Given the description of an element on the screen output the (x, y) to click on. 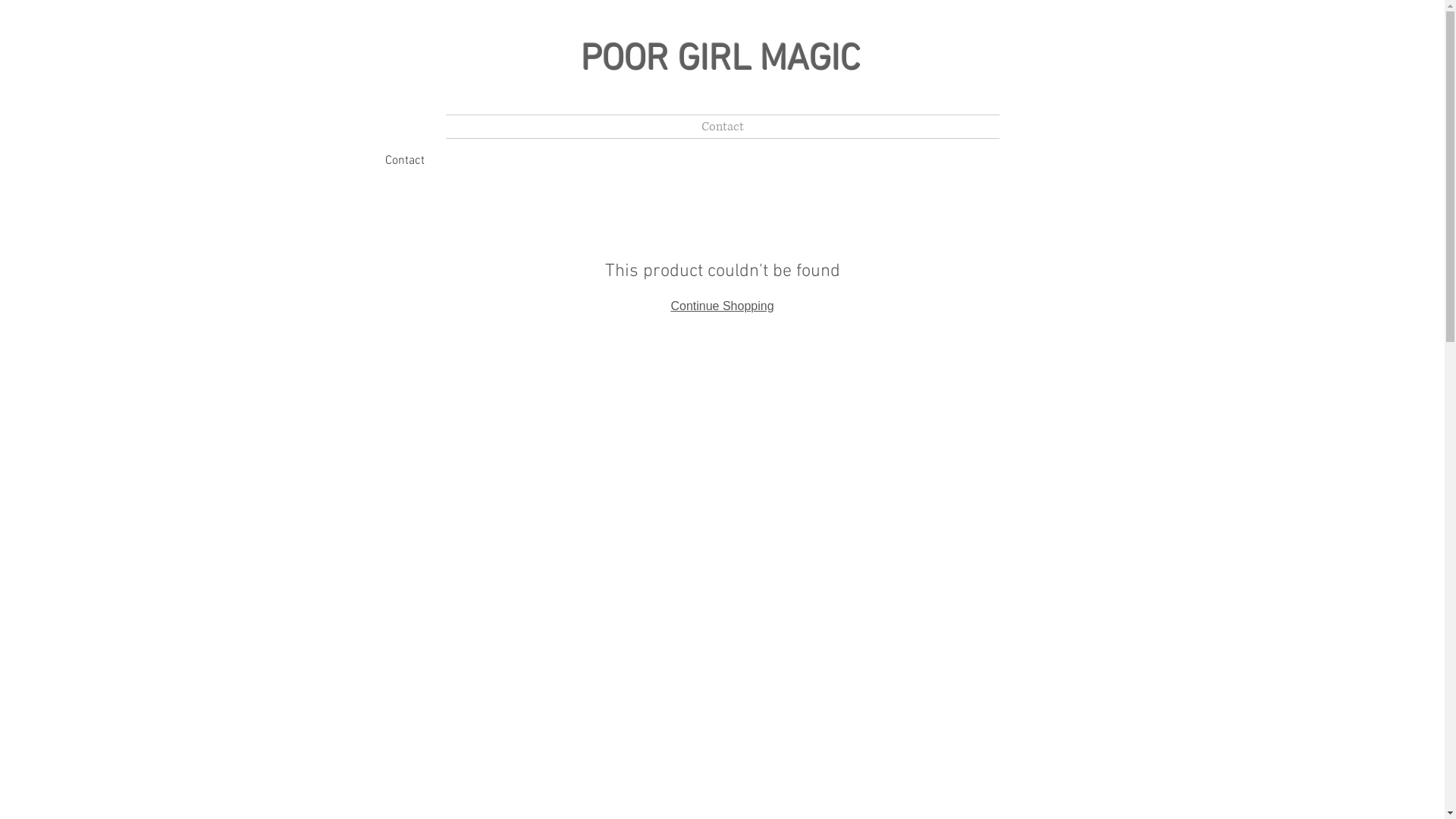
Contact Element type: text (404, 160)
Contact Element type: text (722, 126)
Continue Shopping Element type: text (721, 305)
